Given the description of an element on the screen output the (x, y) to click on. 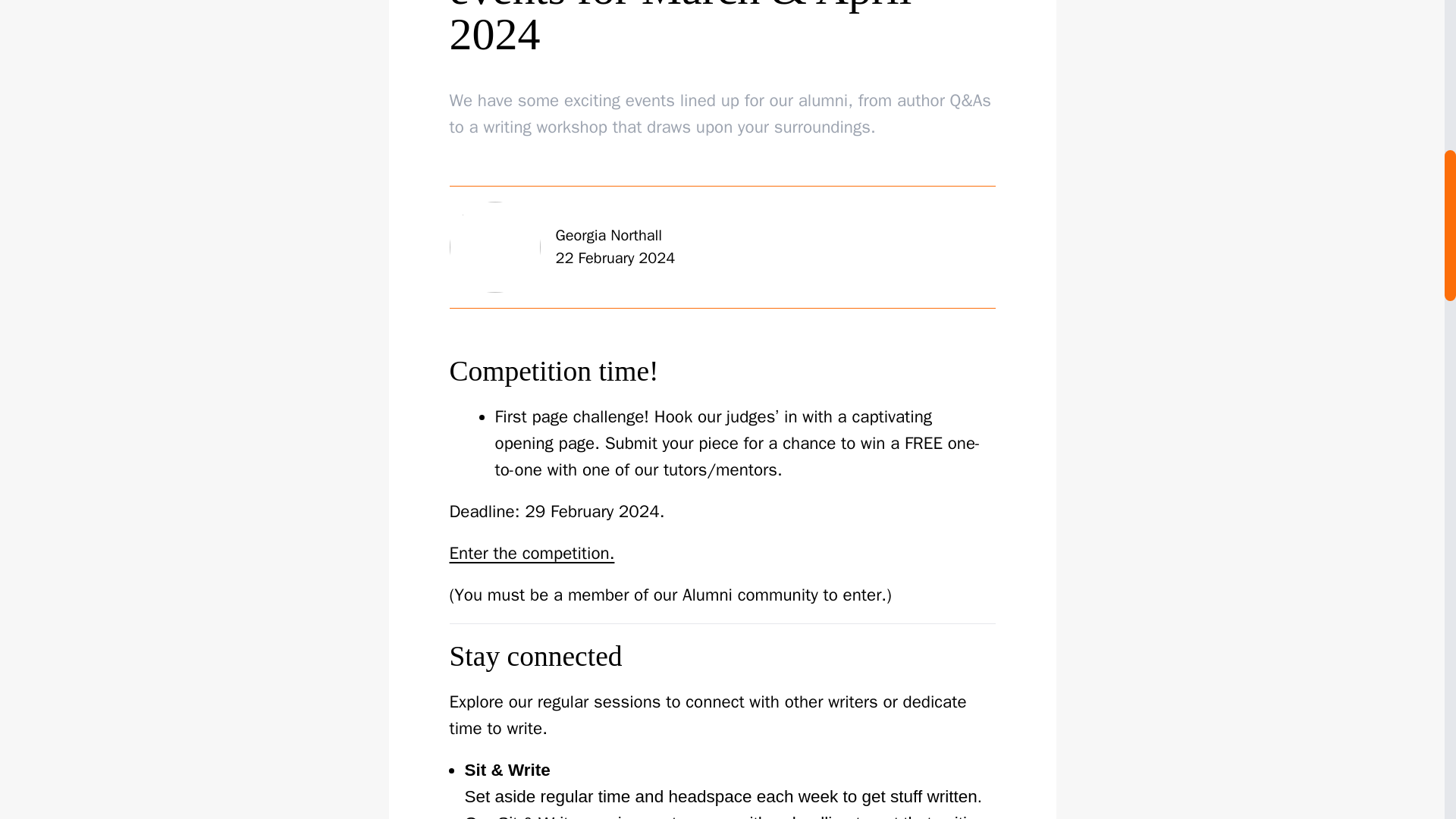
Georgia Northall (494, 246)
Georgia Northall (608, 235)
Enter the competition. (531, 553)
